Given the description of an element on the screen output the (x, y) to click on. 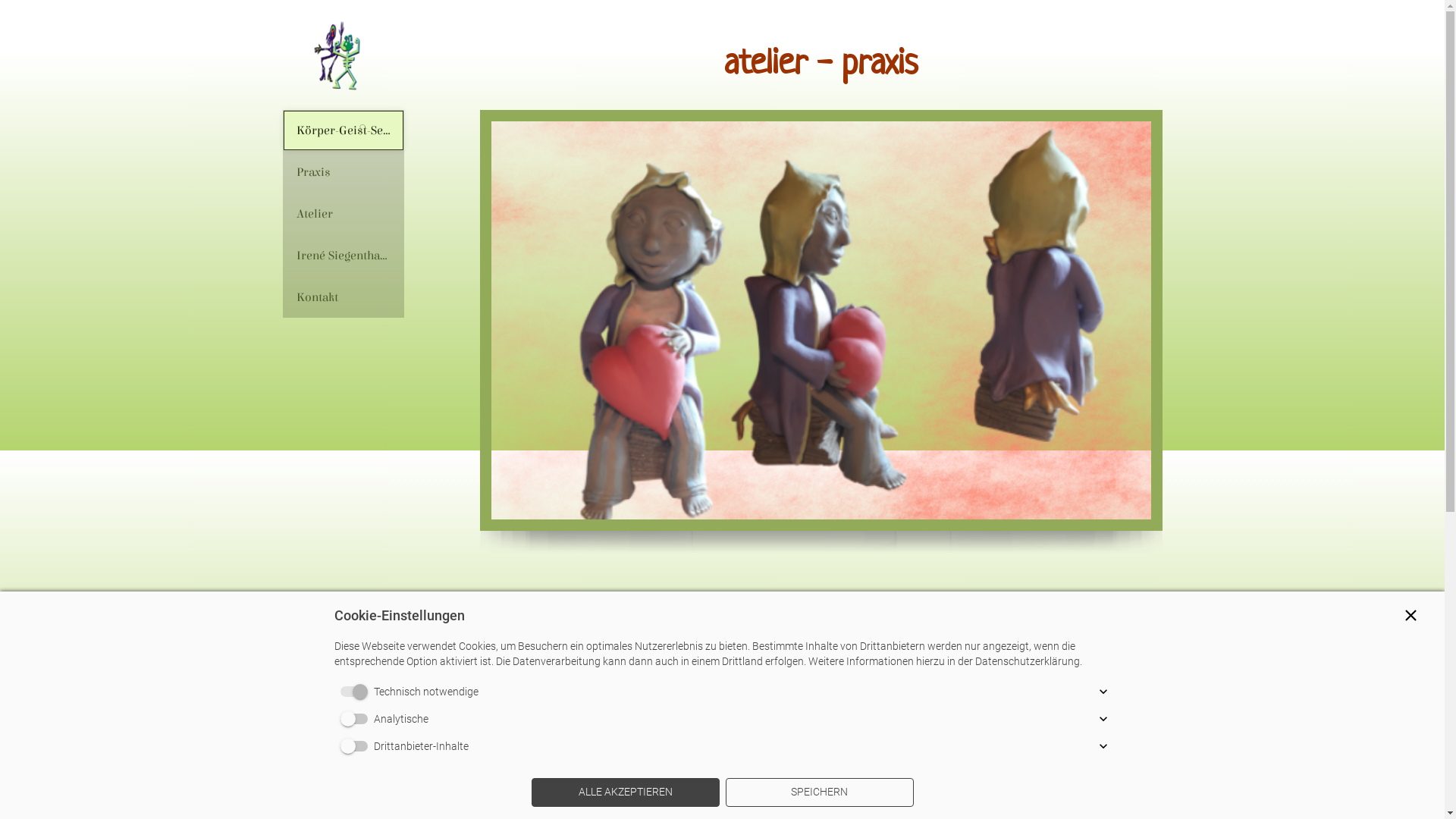
Praxis Element type: text (342, 171)
SPEICHERN Element type: text (818, 792)
Atelier Element type: text (342, 213)
ALLE AKZEPTIEREN Element type: text (624, 792)
Kontakt Element type: text (342, 297)
